Given the description of an element on the screen output the (x, y) to click on. 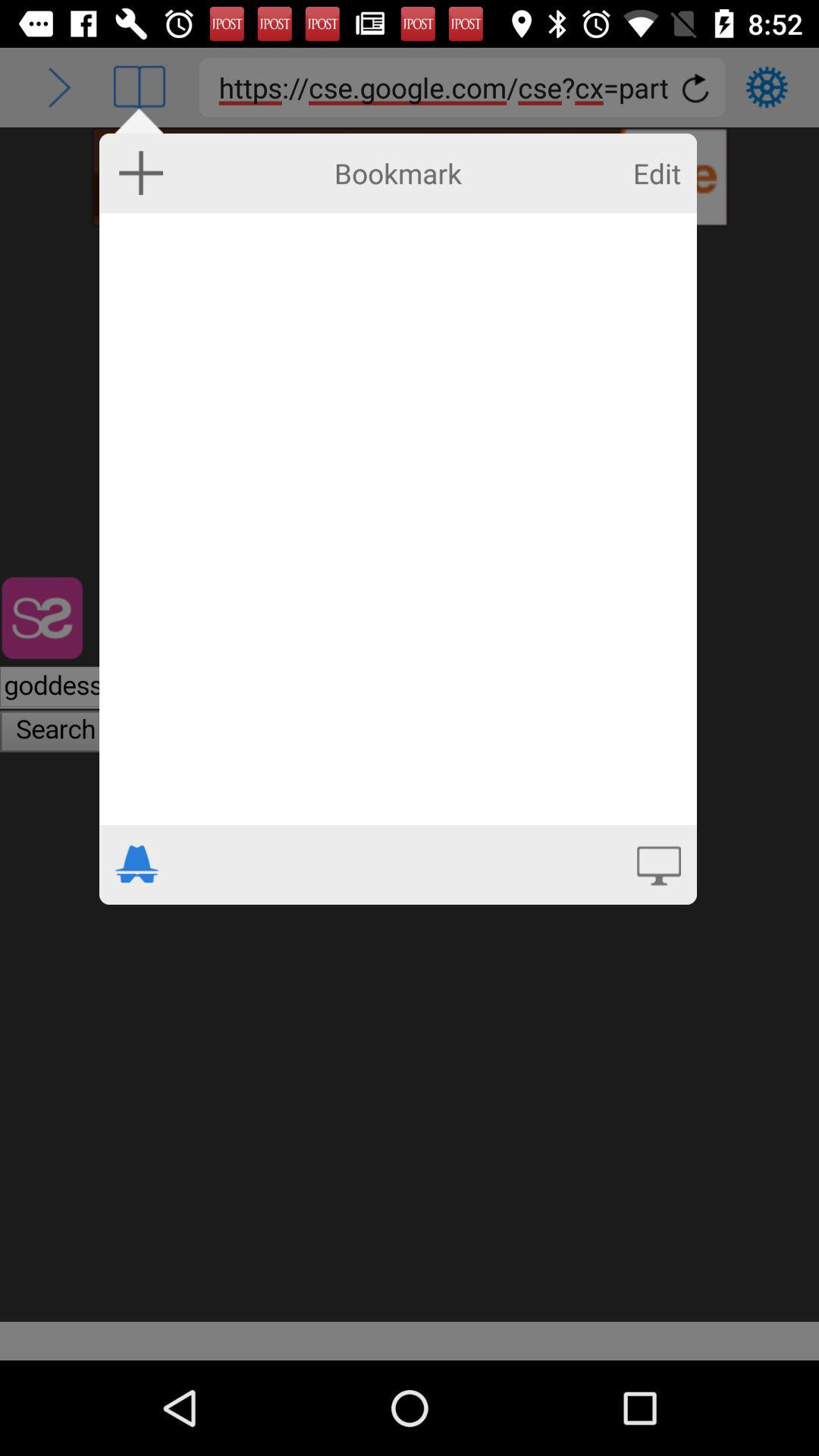
swipe until the edit (656, 172)
